Given the description of an element on the screen output the (x, y) to click on. 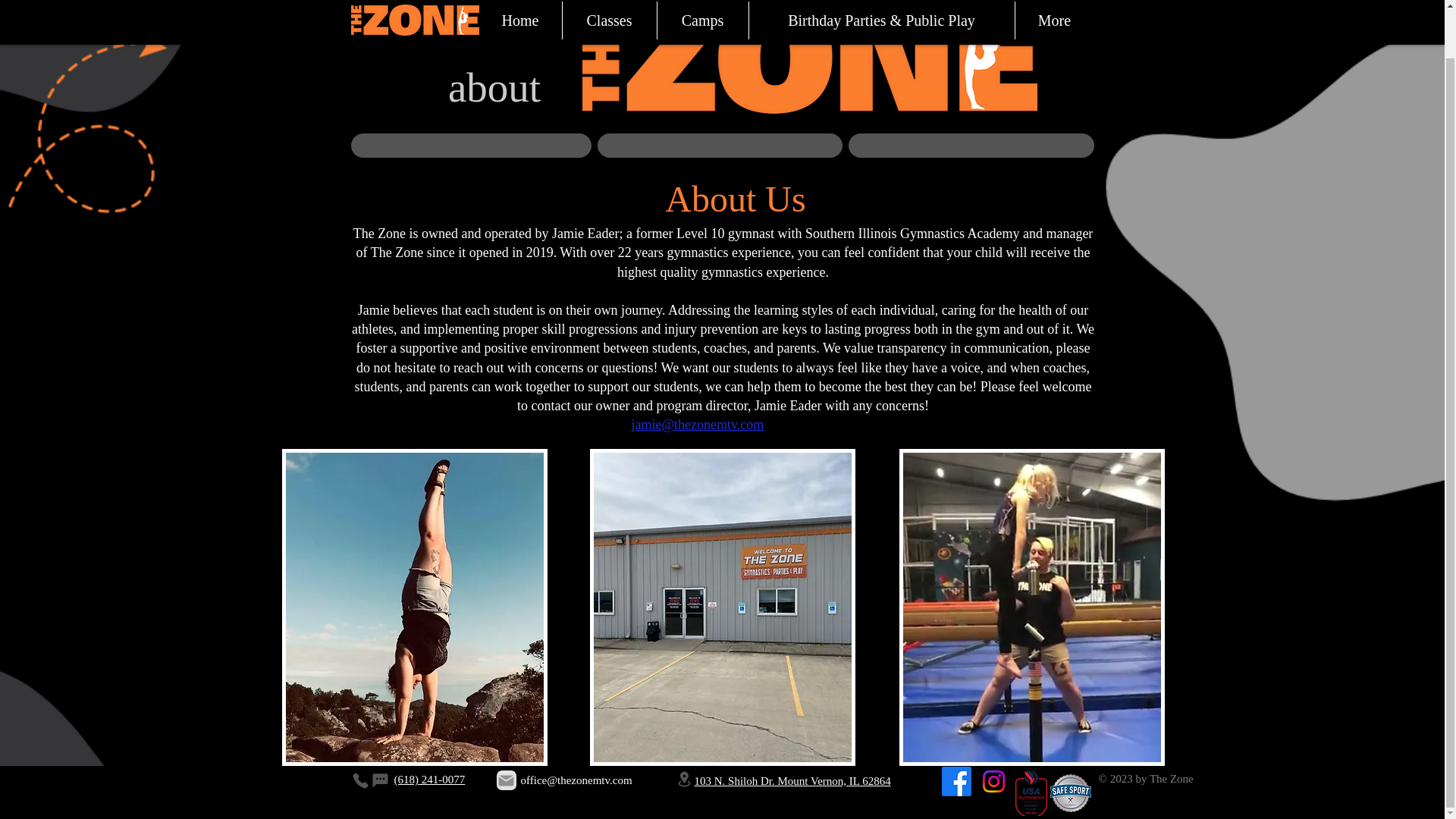
Contact Us (971, 145)
Staff Bios (470, 145)
Field Trips (719, 145)
103 N. Shiloh Dr. Mount Vernon, IL 62864 (792, 729)
